Given the description of an element on the screen output the (x, y) to click on. 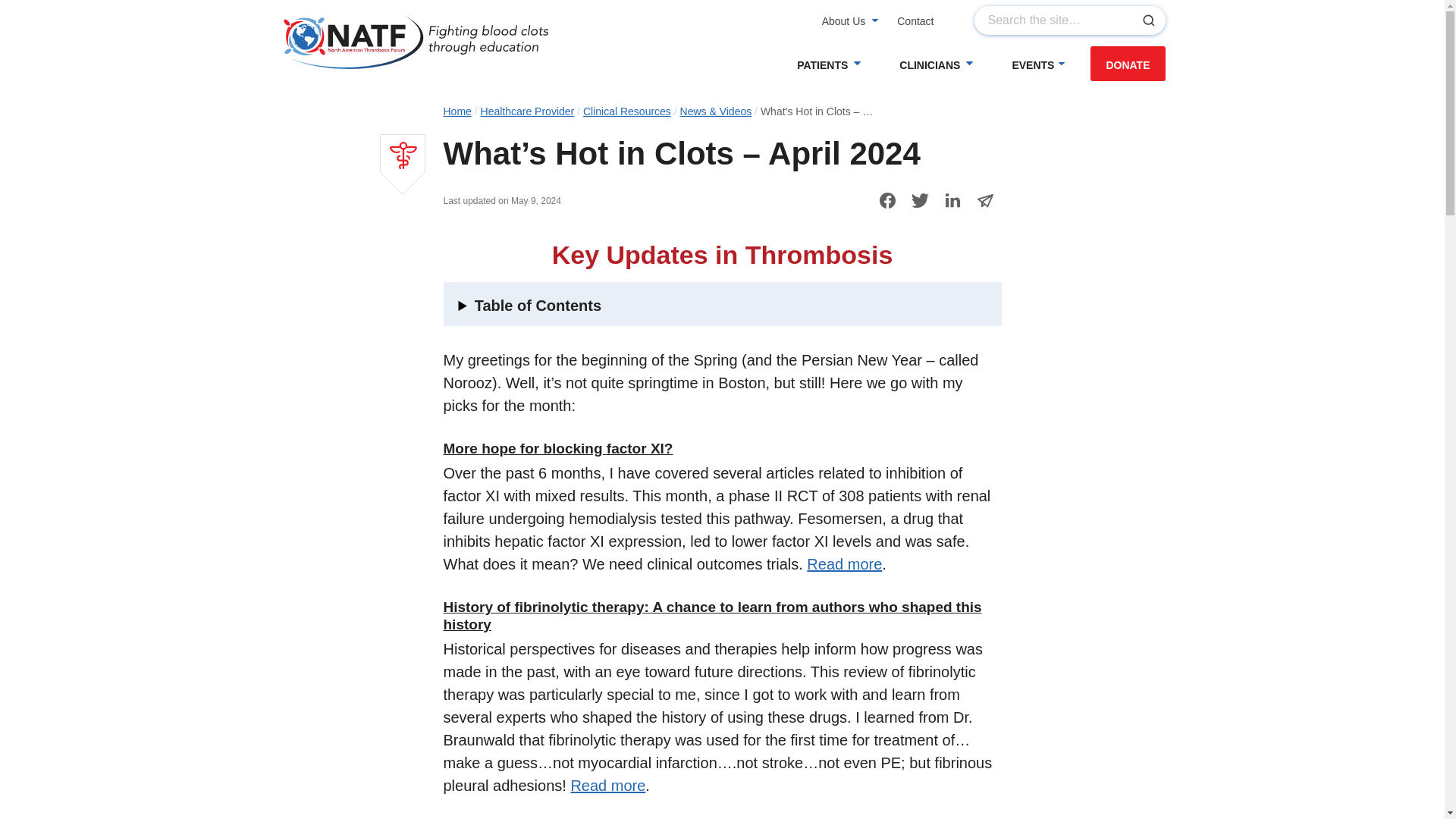
Search for (1069, 20)
North American Thrombosis Forum (415, 41)
Share via Email (985, 200)
Share on Facebook (886, 200)
Share on Twitter (920, 200)
PATIENTS (826, 65)
Share on LinkedIn (952, 200)
